Given the description of an element on the screen output the (x, y) to click on. 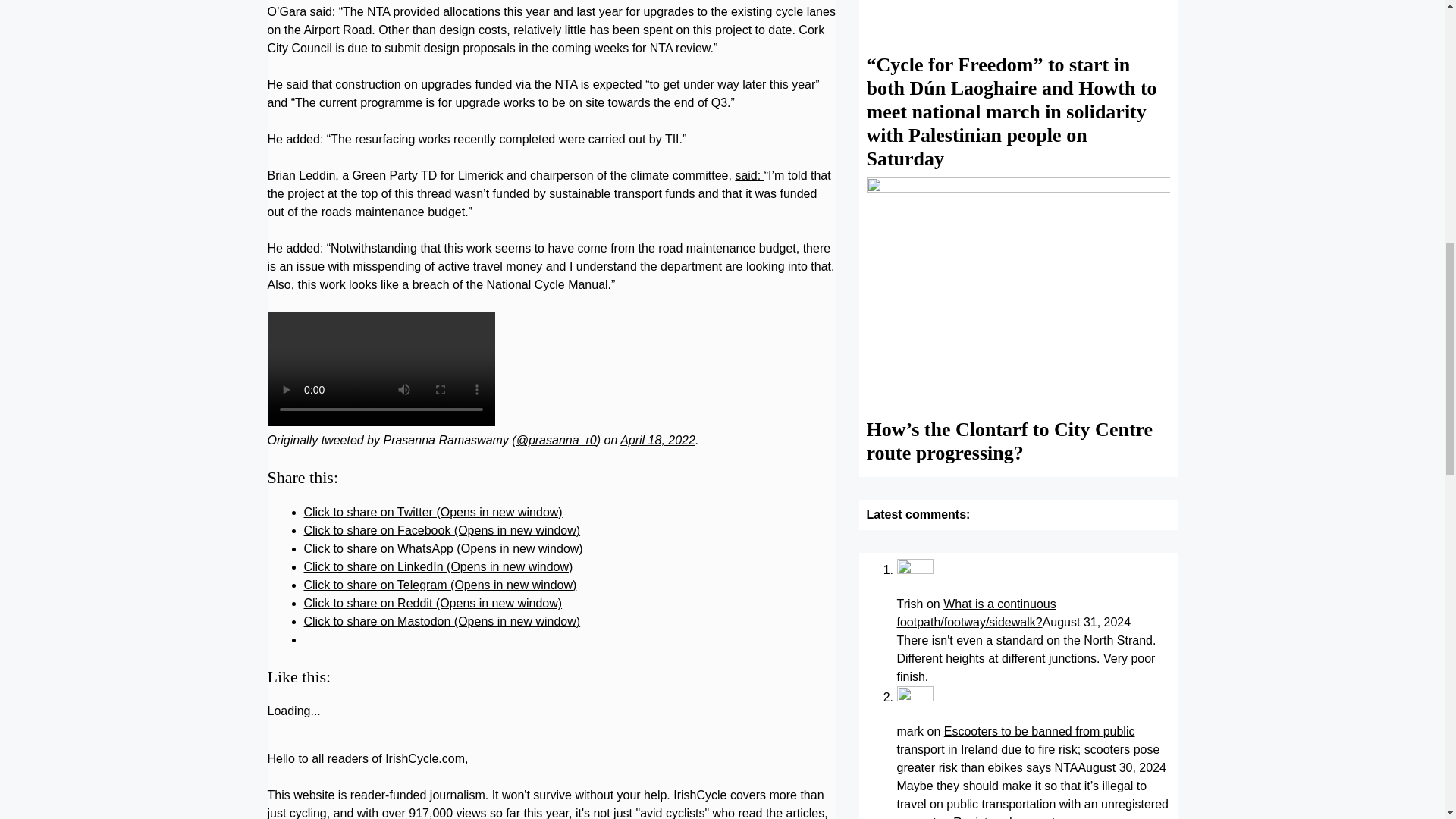
said: (748, 174)
Click to share on Reddit (432, 603)
Click to share on Telegram (439, 584)
Click to share on WhatsApp (442, 548)
Click to share on Twitter (432, 512)
Click to share on LinkedIn (437, 566)
Click to share on Facebook (440, 530)
Click to share on Mastodon (440, 621)
